Given the description of an element on the screen output the (x, y) to click on. 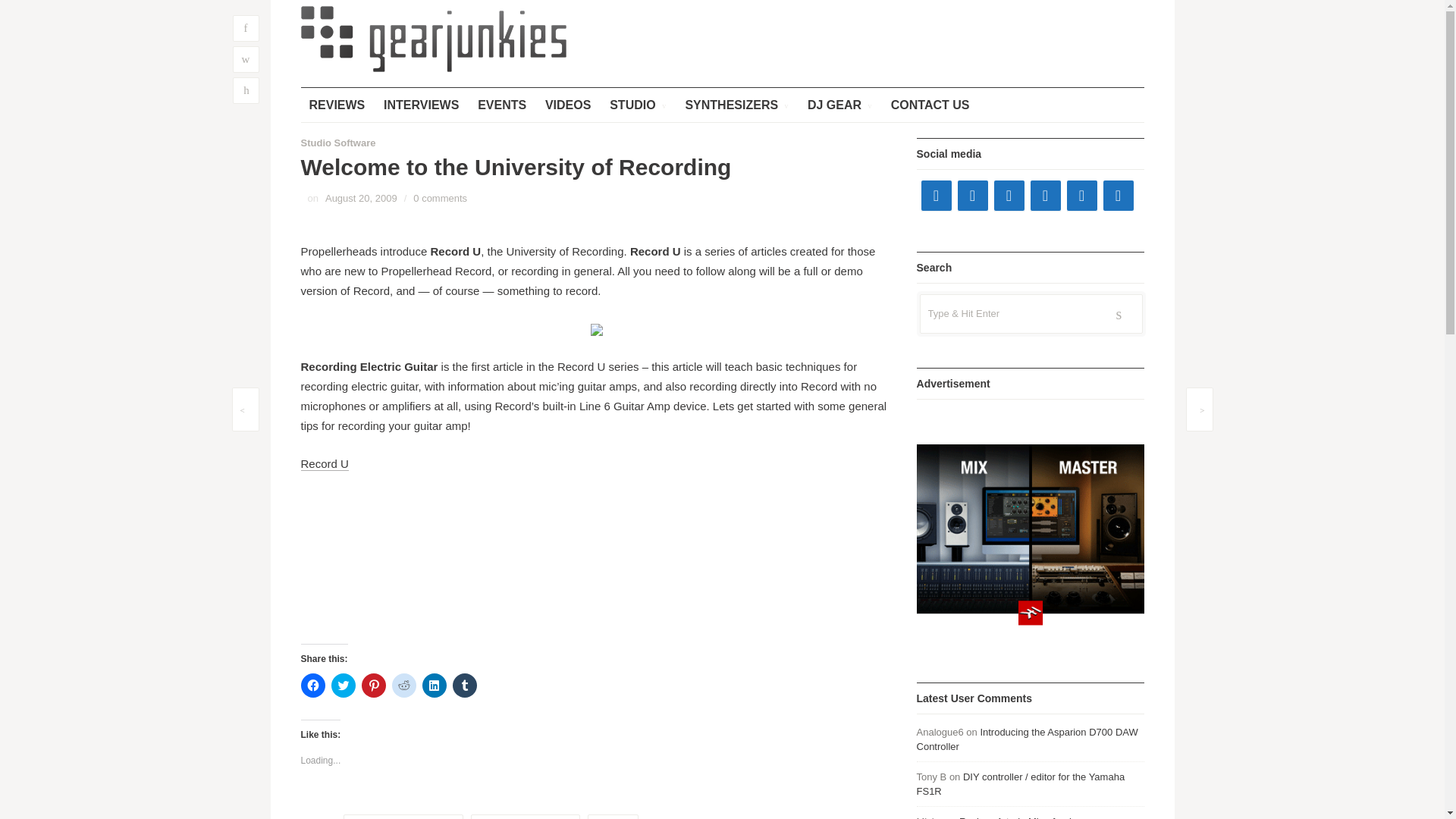
Record U (323, 463)
STUDIO (637, 104)
Permalink to Welcome to the University of Recording (360, 197)
software (613, 816)
YouTube (1007, 195)
INTERVIEWS (421, 104)
Click to share on Reddit (402, 685)
Facebook (935, 195)
Studio Software (337, 142)
Propellerhead Record (524, 816)
DJ GEAR (839, 104)
Click to share on Tumblr (463, 685)
REVIEWS (335, 104)
VIDEOS (567, 104)
Click to share on LinkedIn (433, 685)
